Given the description of an element on the screen output the (x, y) to click on. 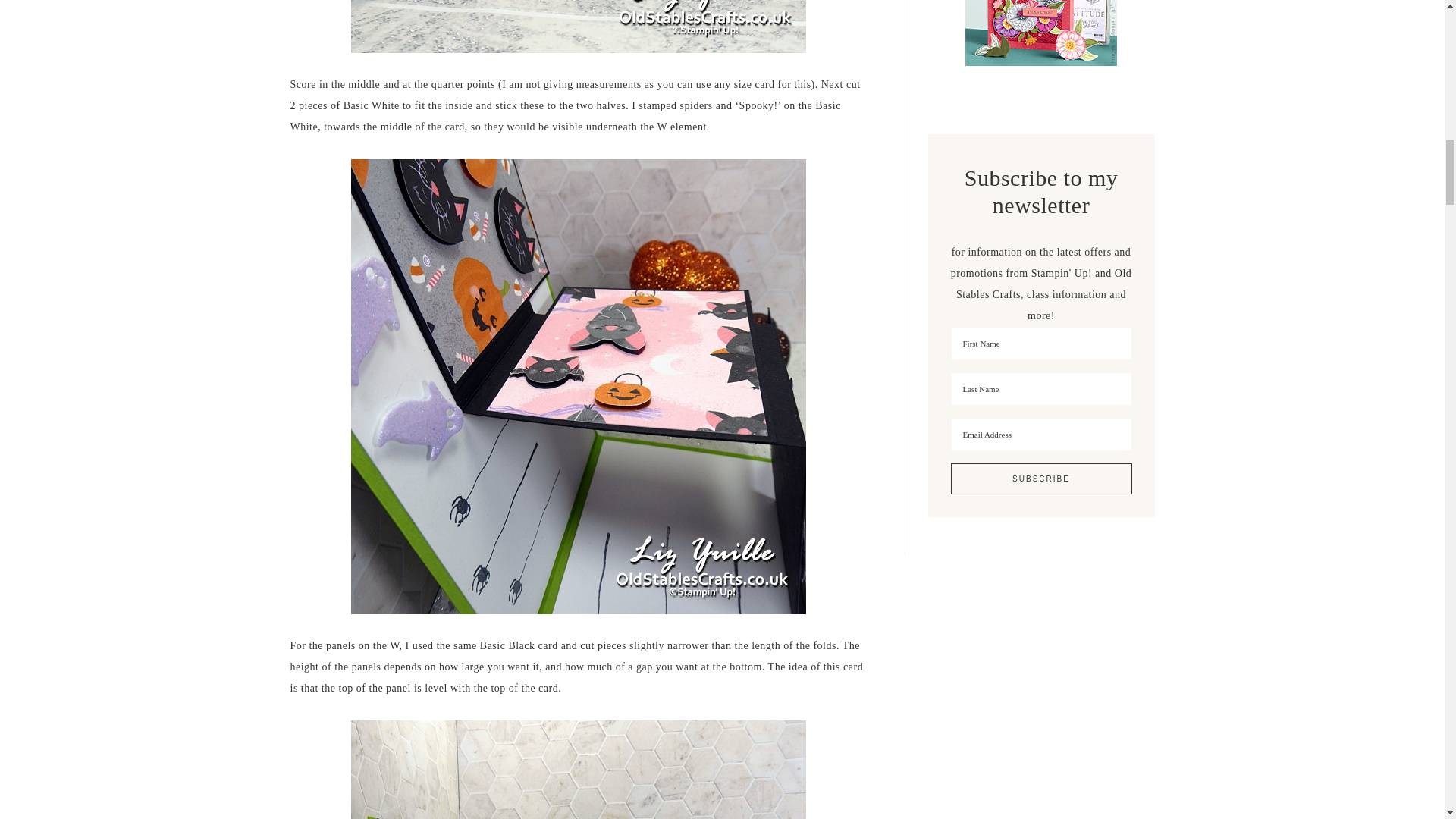
Subscribe (1041, 478)
